Given the description of an element on the screen output the (x, y) to click on. 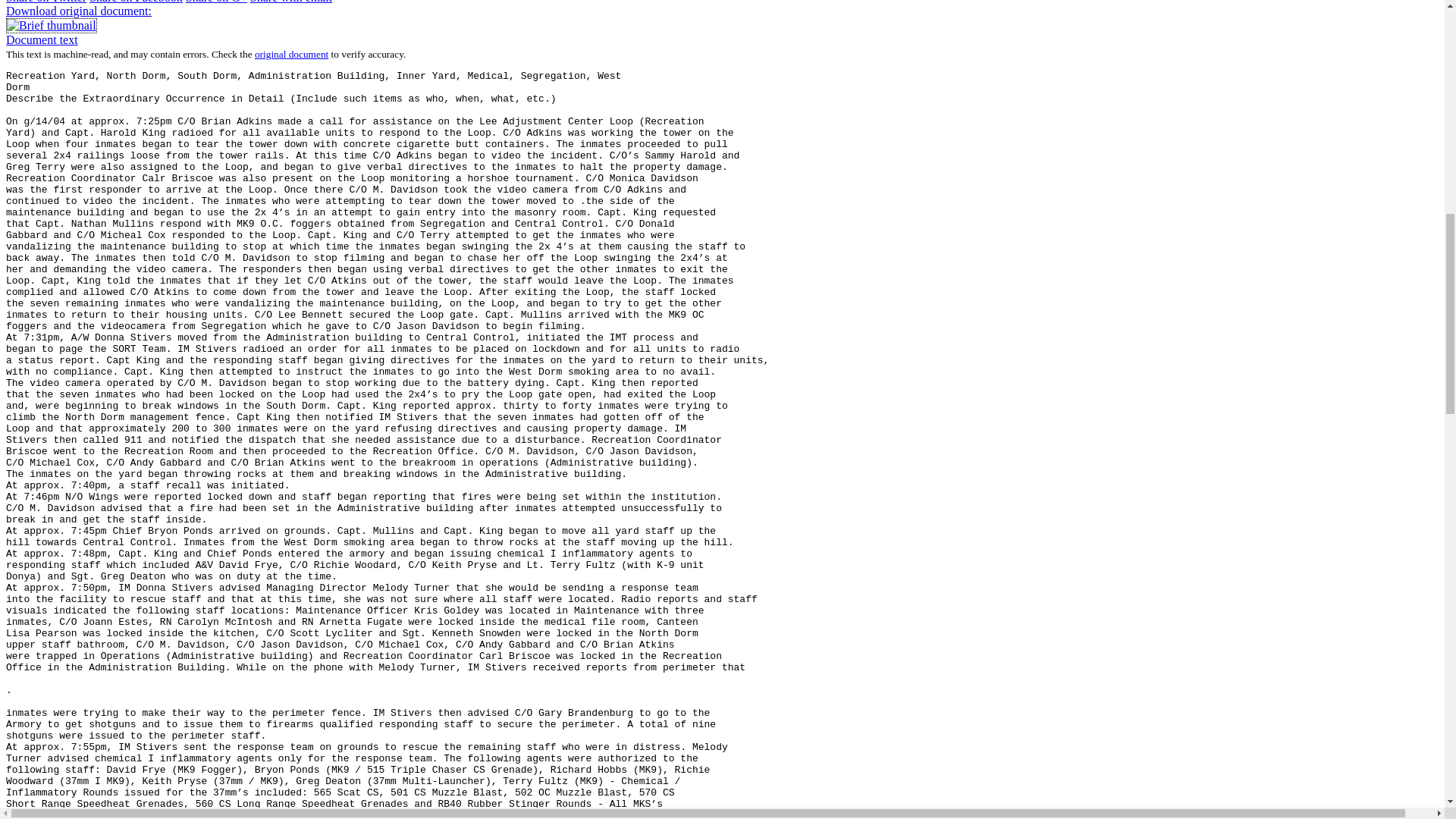
Share on Facebook (135, 2)
Share with email (290, 2)
Share on Twitter (45, 2)
Share on Facebook (135, 2)
Share with email (290, 2)
Share on Twitter (45, 2)
